Given the description of an element on the screen output the (x, y) to click on. 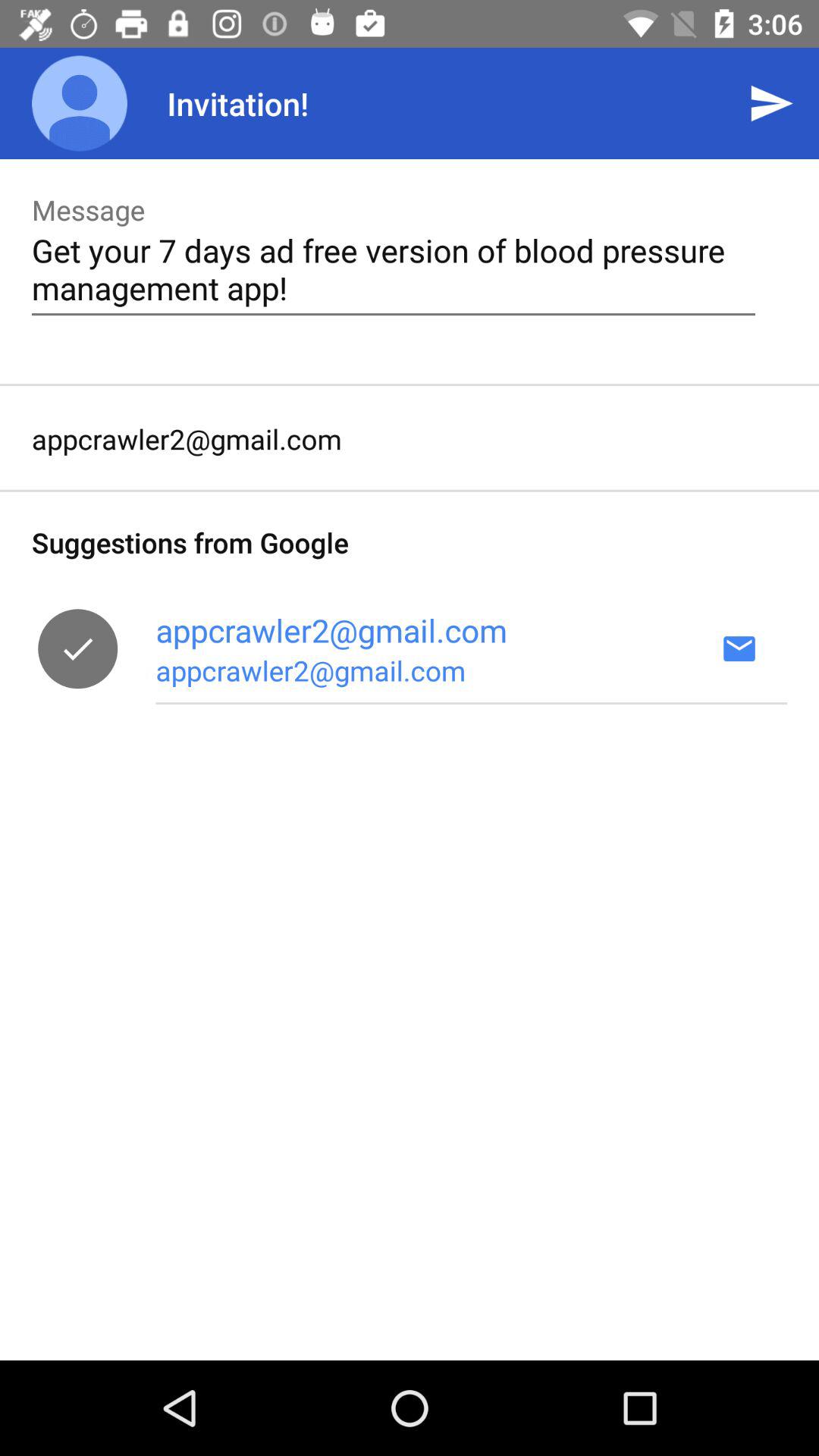
turn on the app to the right of invitation! icon (771, 103)
